Given the description of an element on the screen output the (x, y) to click on. 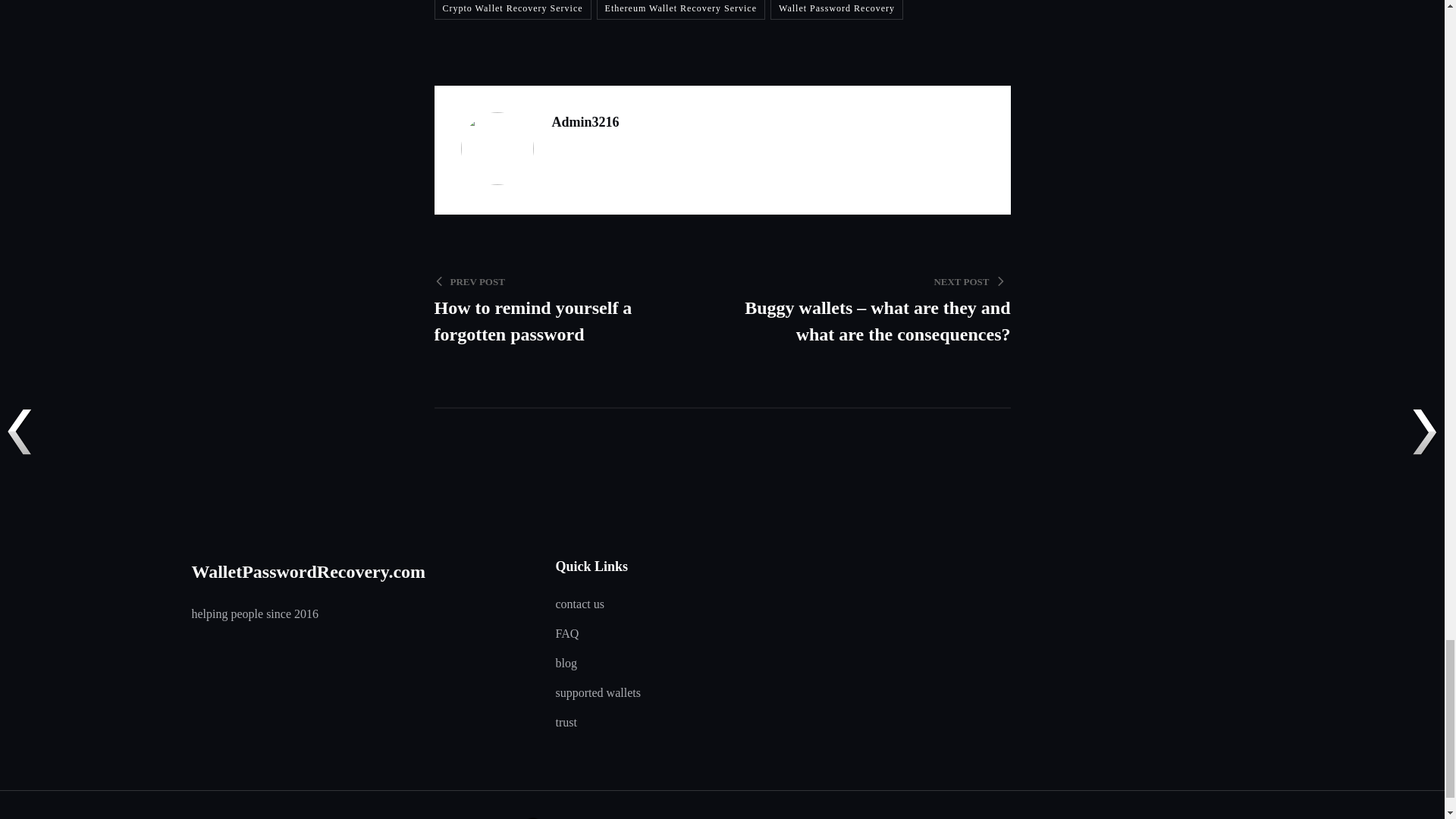
supported wallets (597, 693)
Crypto Wallet Recovery Service (512, 9)
Twitter (569, 308)
Telegram (450, 816)
WalletPasswordRecovery.com (482, 816)
Ethereum Wallet Recovery Service (307, 571)
Wallet Password Recovery (680, 9)
contact us (836, 9)
